Given the description of an element on the screen output the (x, y) to click on. 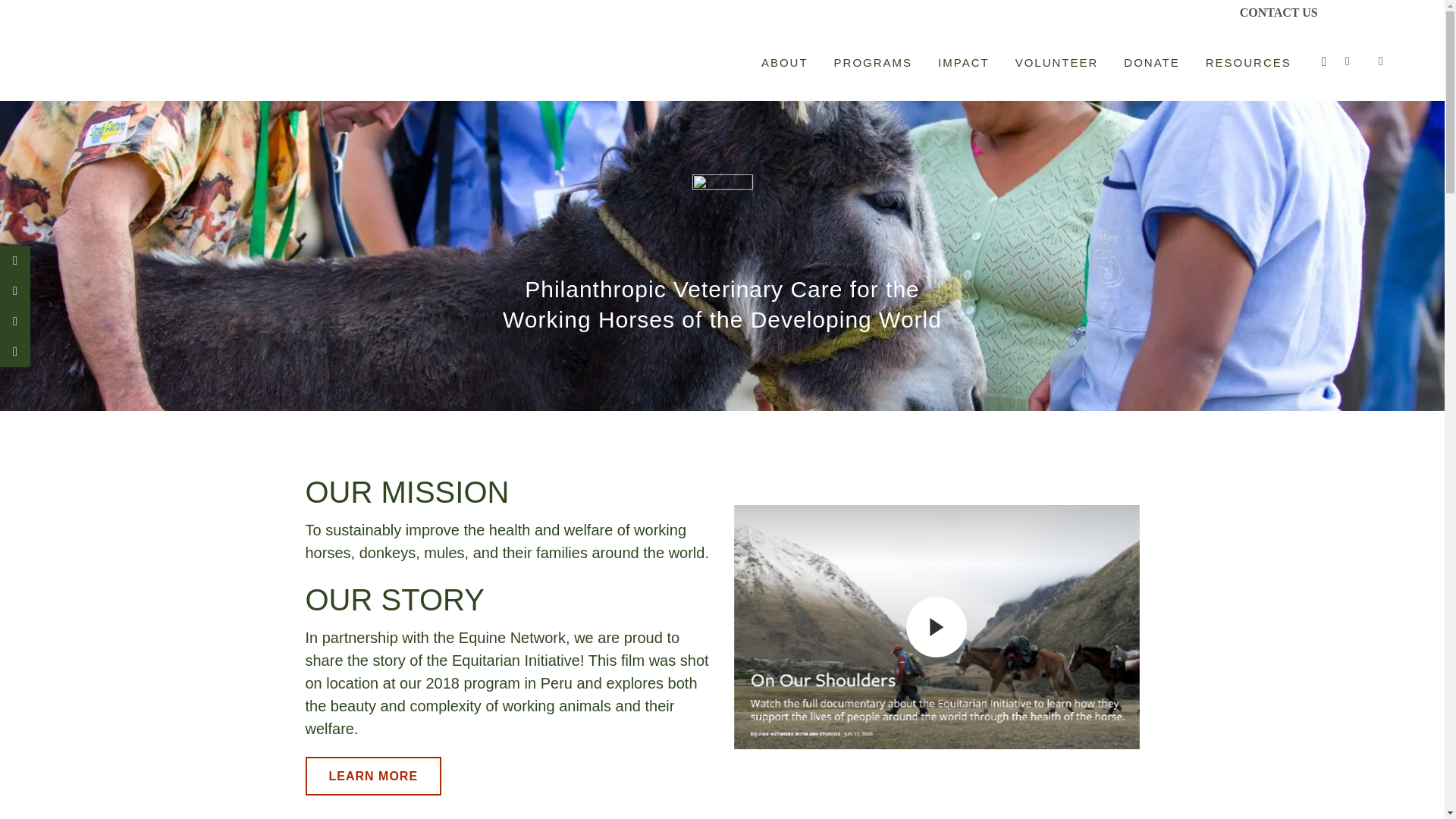
ABOUT (784, 62)
enlivenem (721, 204)
DONATE (1151, 62)
IMPACT (963, 62)
PROGRAMS (873, 62)
VOLUNTEER (1057, 62)
CONTACT US (1272, 12)
LEARN MORE (372, 775)
RESOURCES (1248, 62)
